Given the description of an element on the screen output the (x, y) to click on. 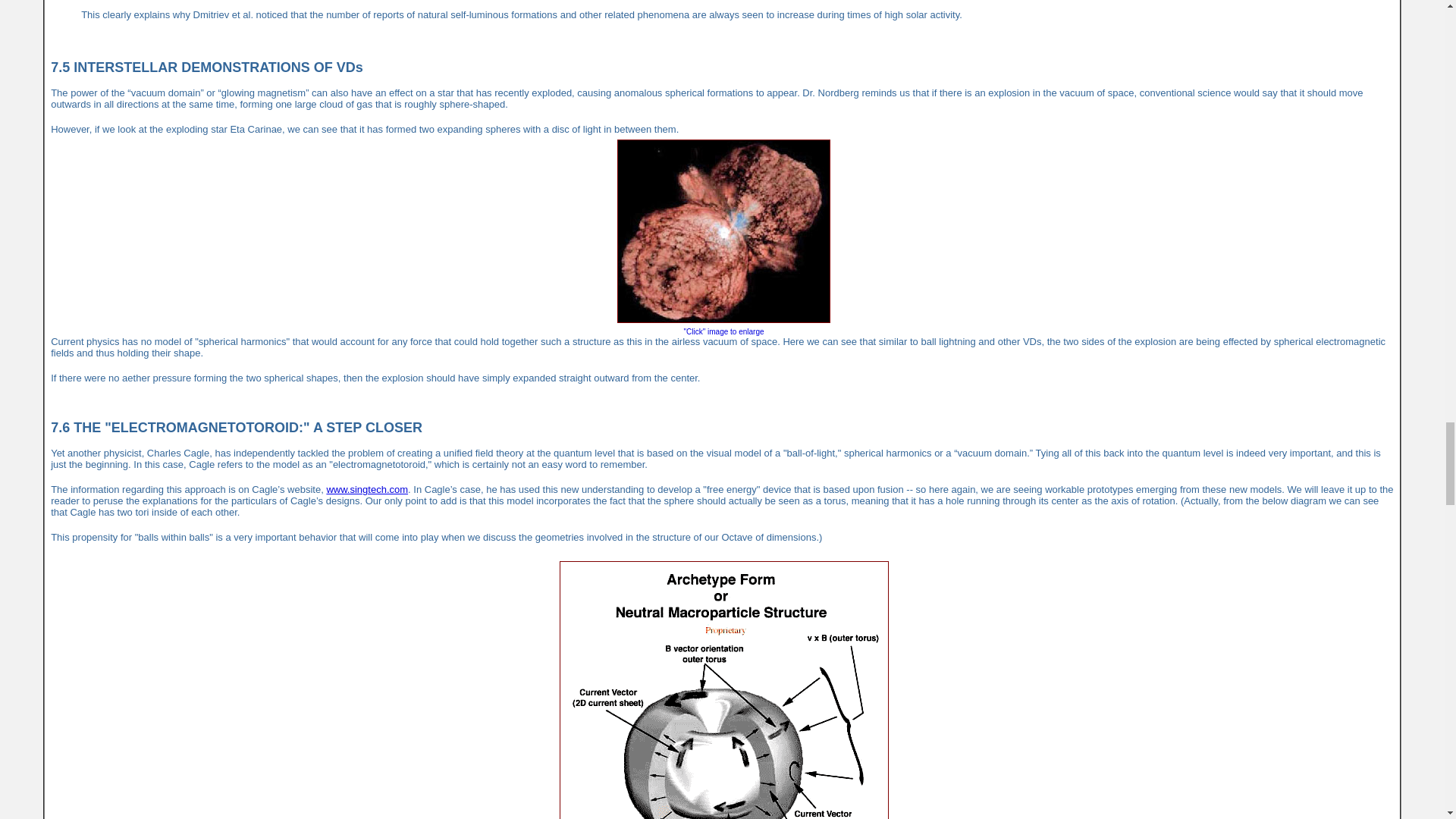
www.singtech.com (366, 489)
